Given the description of an element on the screen output the (x, y) to click on. 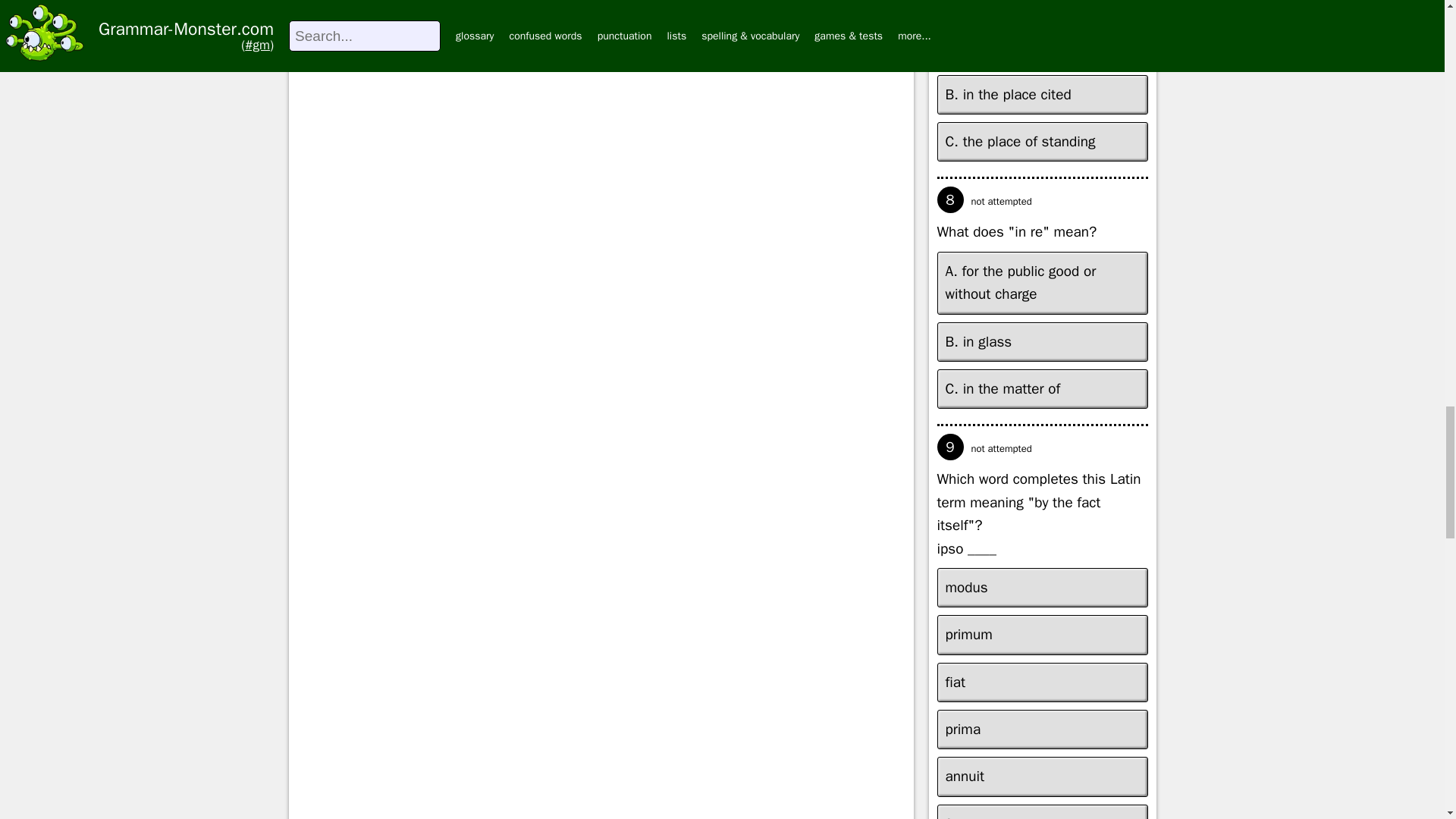
YouTube (440, 15)
X (349, 15)
mailing list (674, 15)
grammar forum (811, 15)
Facebook (555, 15)
